Given the description of an element on the screen output the (x, y) to click on. 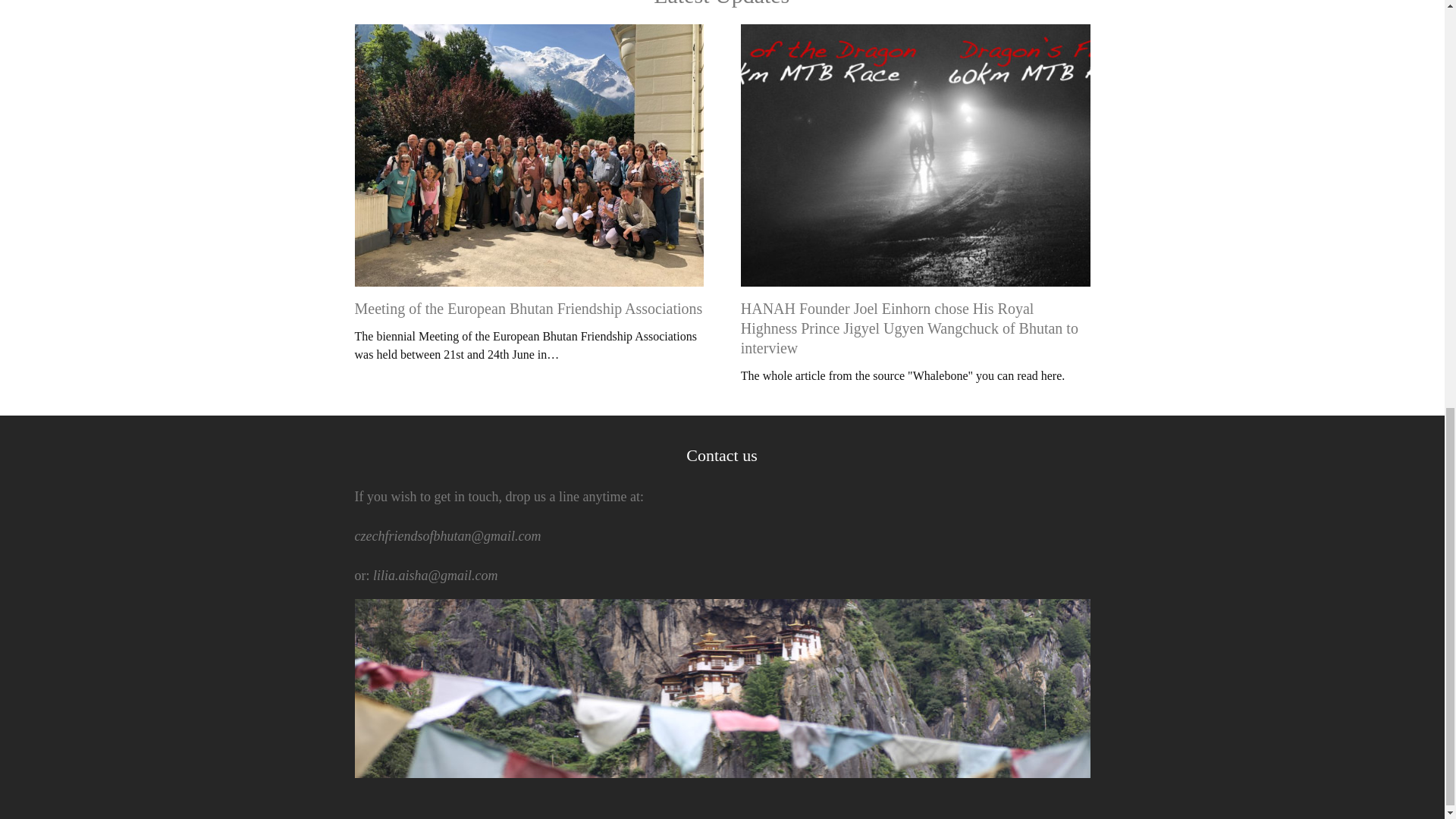
Meeting of the European Bhutan Friendship Associations (529, 308)
